Given the description of an element on the screen output the (x, y) to click on. 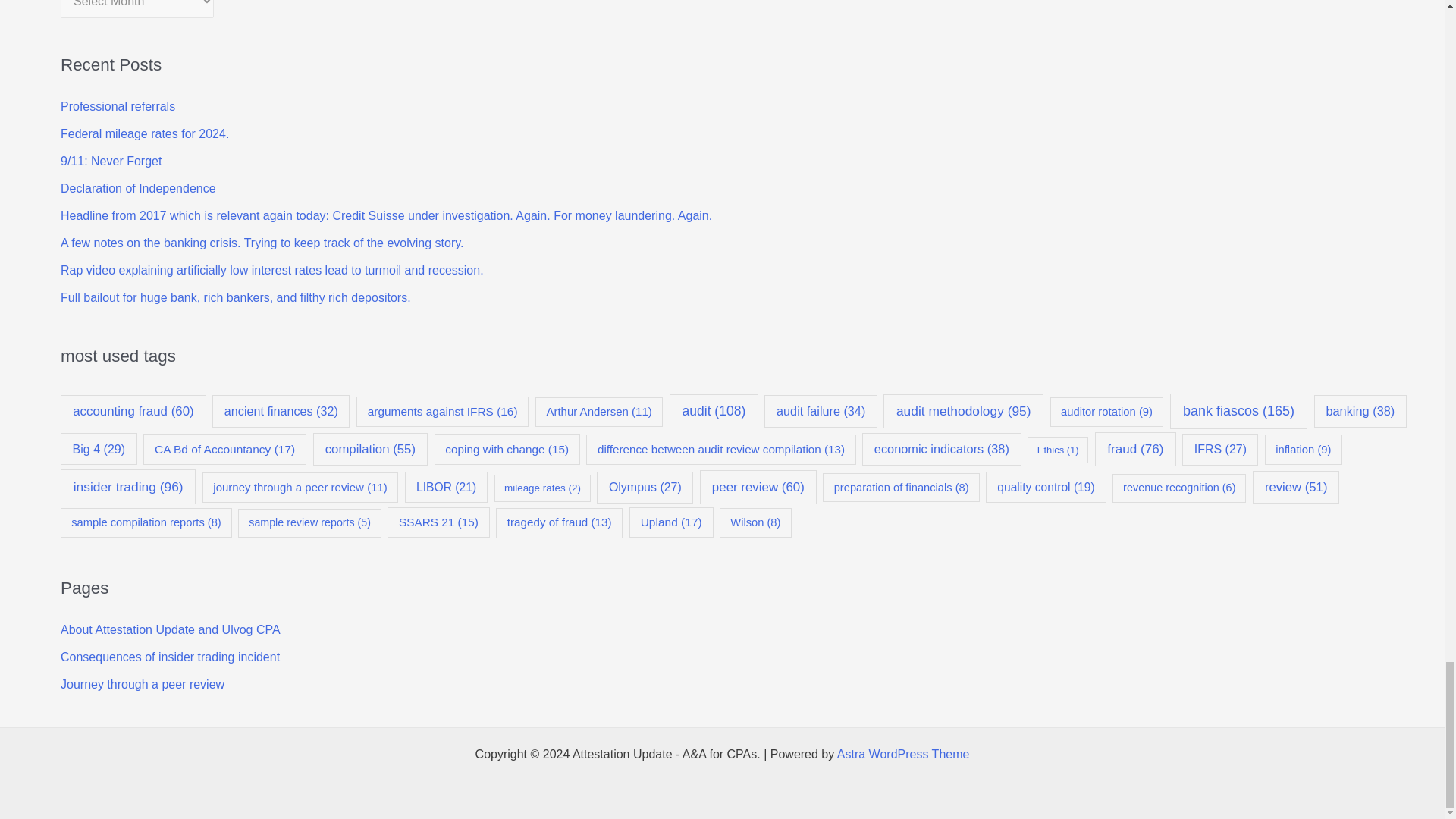
Federal mileage rates for 2024. (144, 133)
Professional referrals (117, 106)
Declaration of Independence (138, 187)
